Given the description of an element on the screen output the (x, y) to click on. 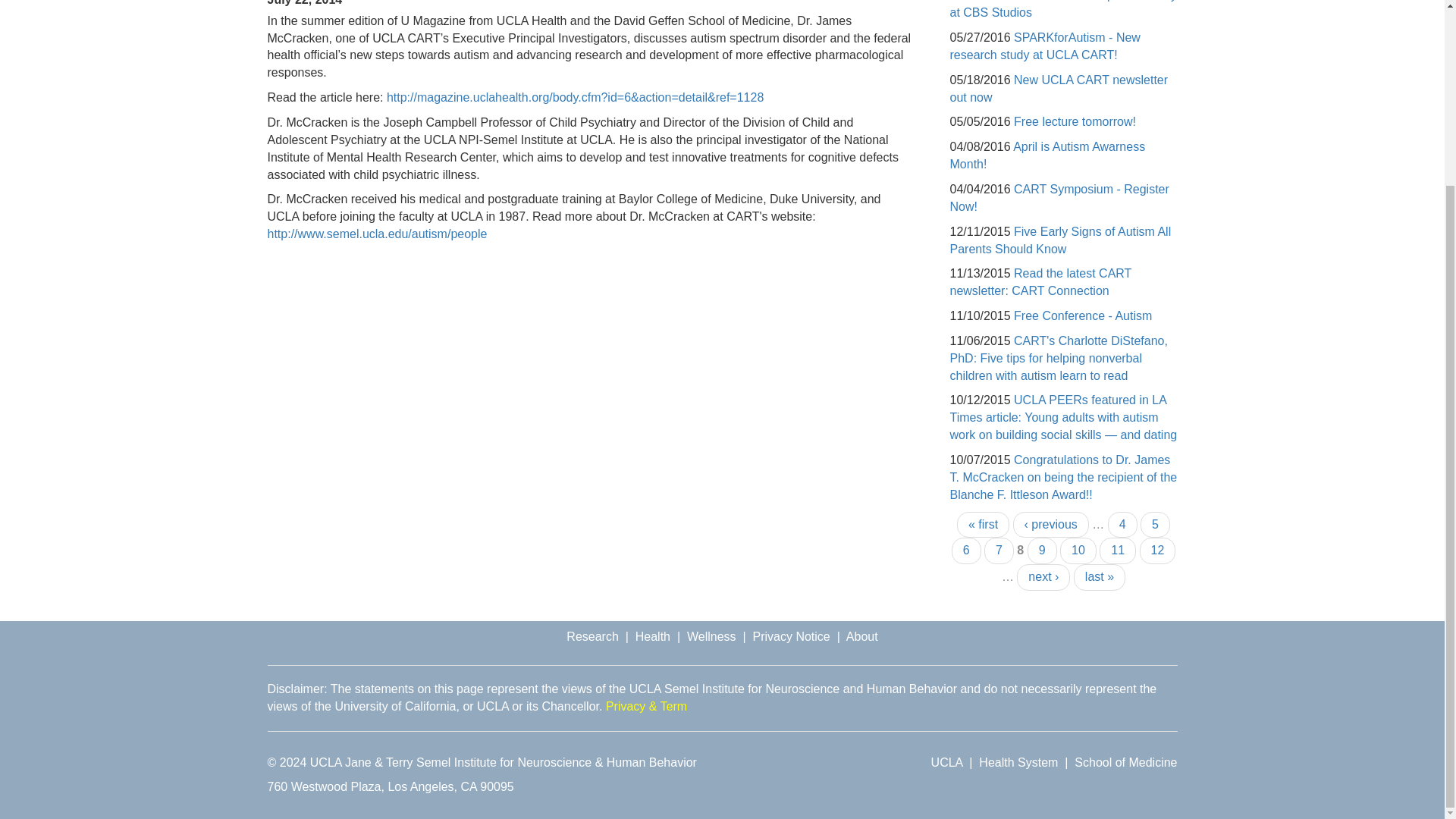
Go to first page (982, 524)
Go to page 4 (1122, 524)
Go to page 12 (1158, 550)
Go to next page (1043, 577)
Go to page 9 (1042, 550)
Go to page 6 (966, 550)
Go to page 10 (1077, 550)
Go to previous page (1051, 524)
Go to page 7 (998, 550)
Go to last page (1099, 577)
Go to page 11 (1117, 550)
University of California Los Angeles (946, 762)
Go to page 5 (1155, 524)
